Given the description of an element on the screen output the (x, y) to click on. 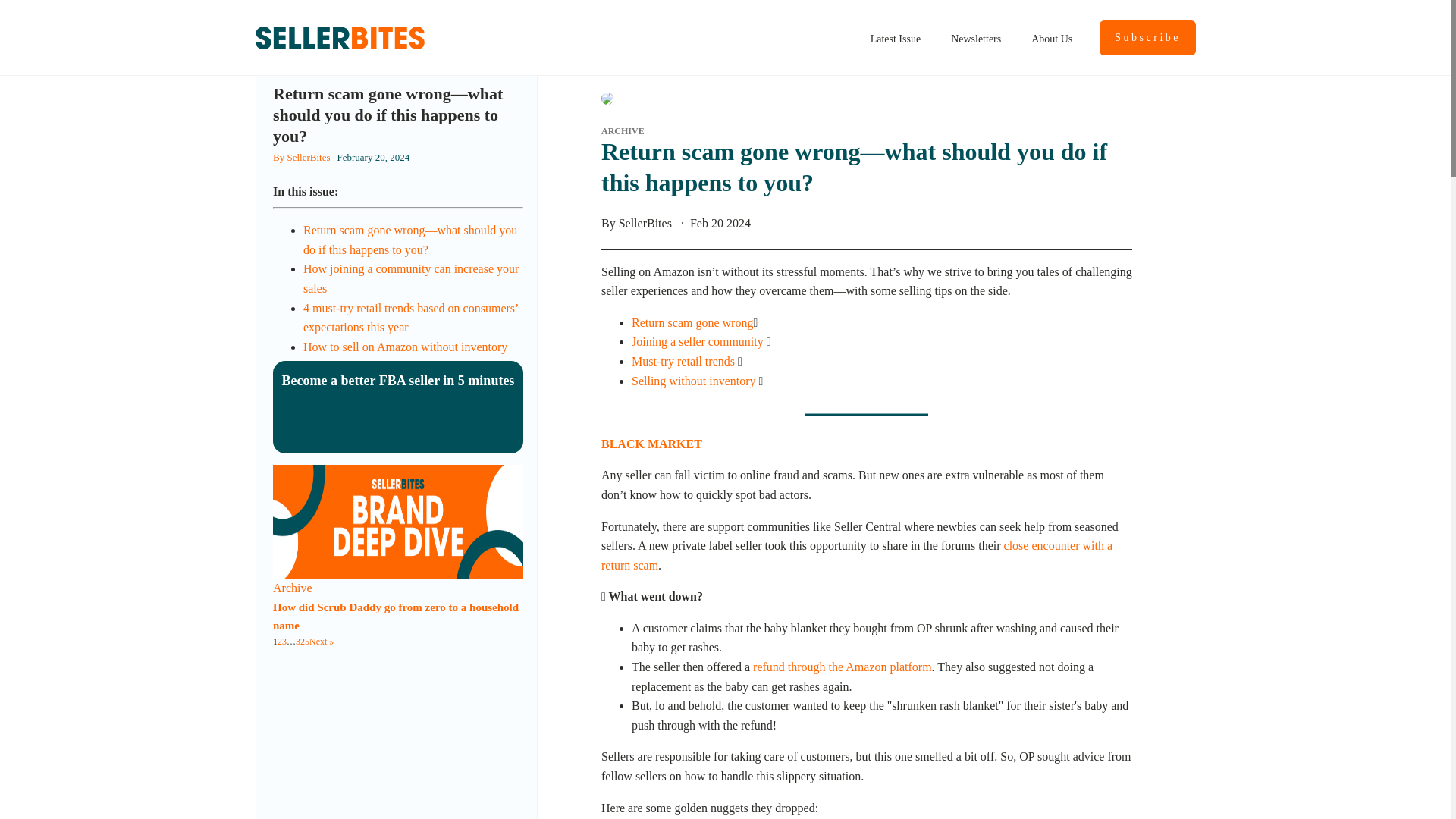
How to sell on Amazon without inventory (404, 346)
Return scam gone wrong (691, 322)
Must-try retail trends (683, 360)
Selling without inventory (693, 380)
Newsletters (976, 37)
Joining a seller community (696, 341)
close encounter with a return scam (856, 554)
Latest Issue (896, 37)
Subscribe (1147, 38)
How did Scrub Daddy go from zero to a household name (395, 616)
